Given the description of an element on the screen output the (x, y) to click on. 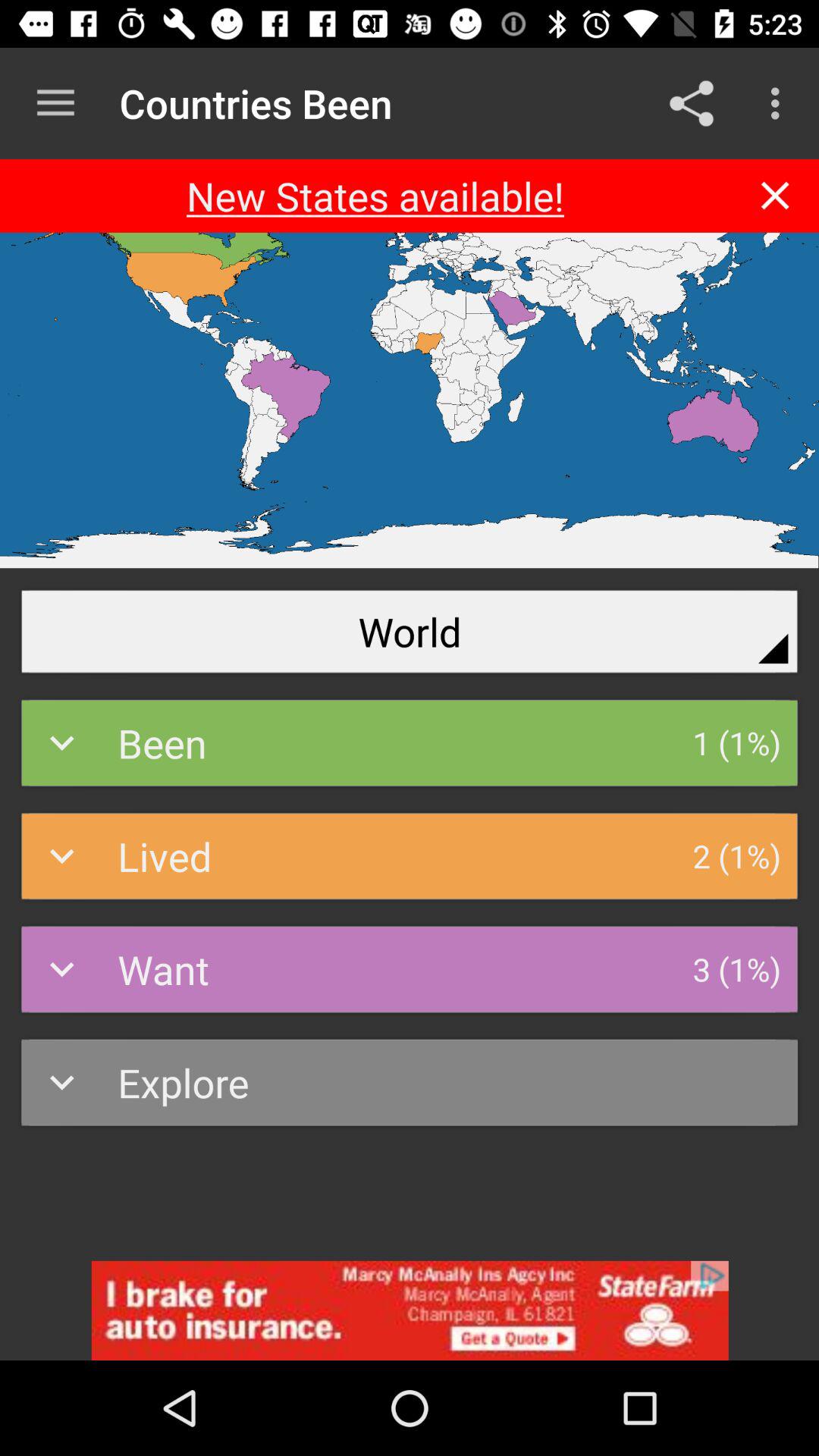
open menu (55, 103)
